Given the description of an element on the screen output the (x, y) to click on. 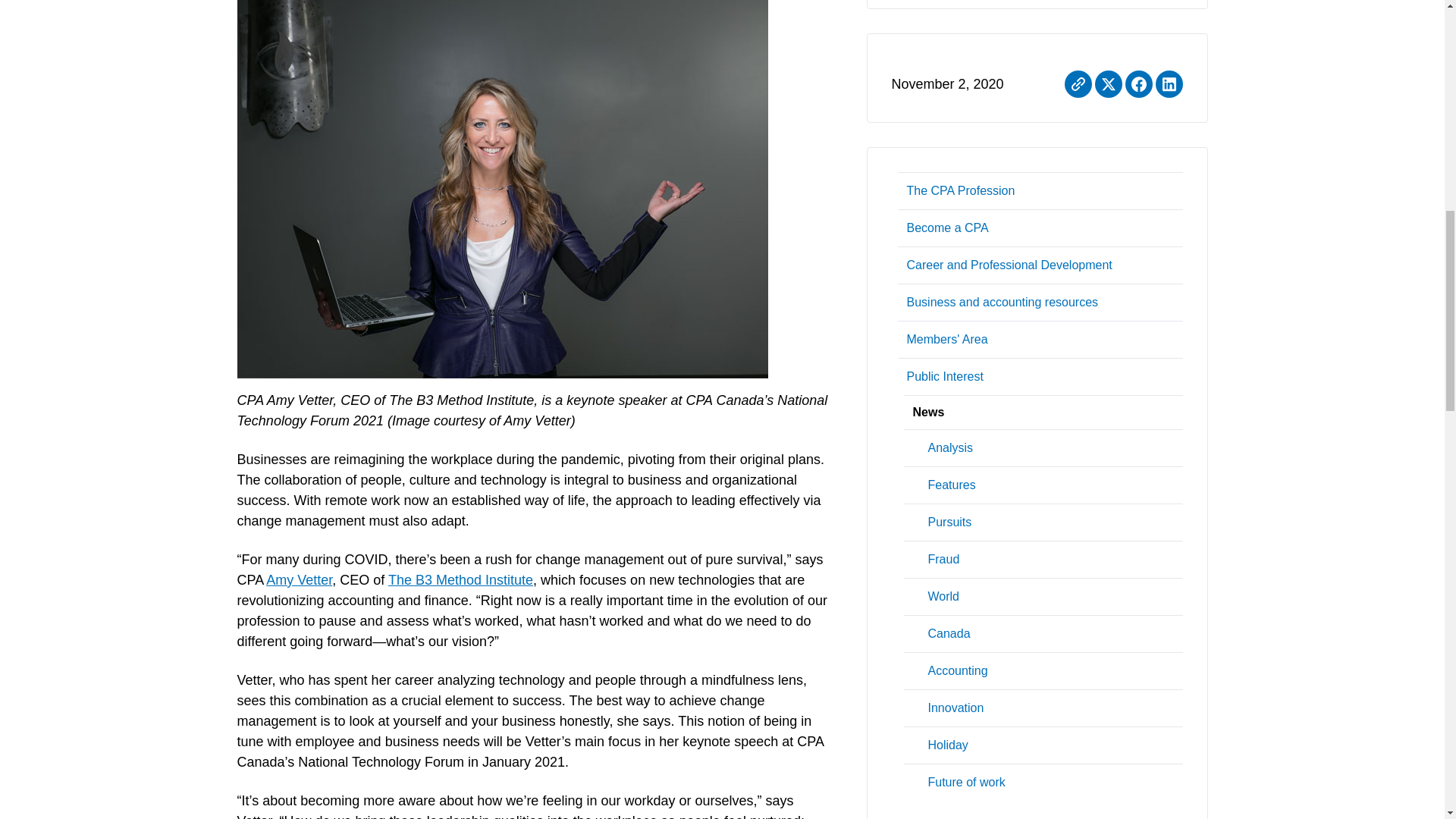
Become a CPA (1040, 227)
The B3 Method Institute (460, 580)
Amy Vetter (298, 580)
The CPA Profession (1040, 190)
